Given the description of an element on the screen output the (x, y) to click on. 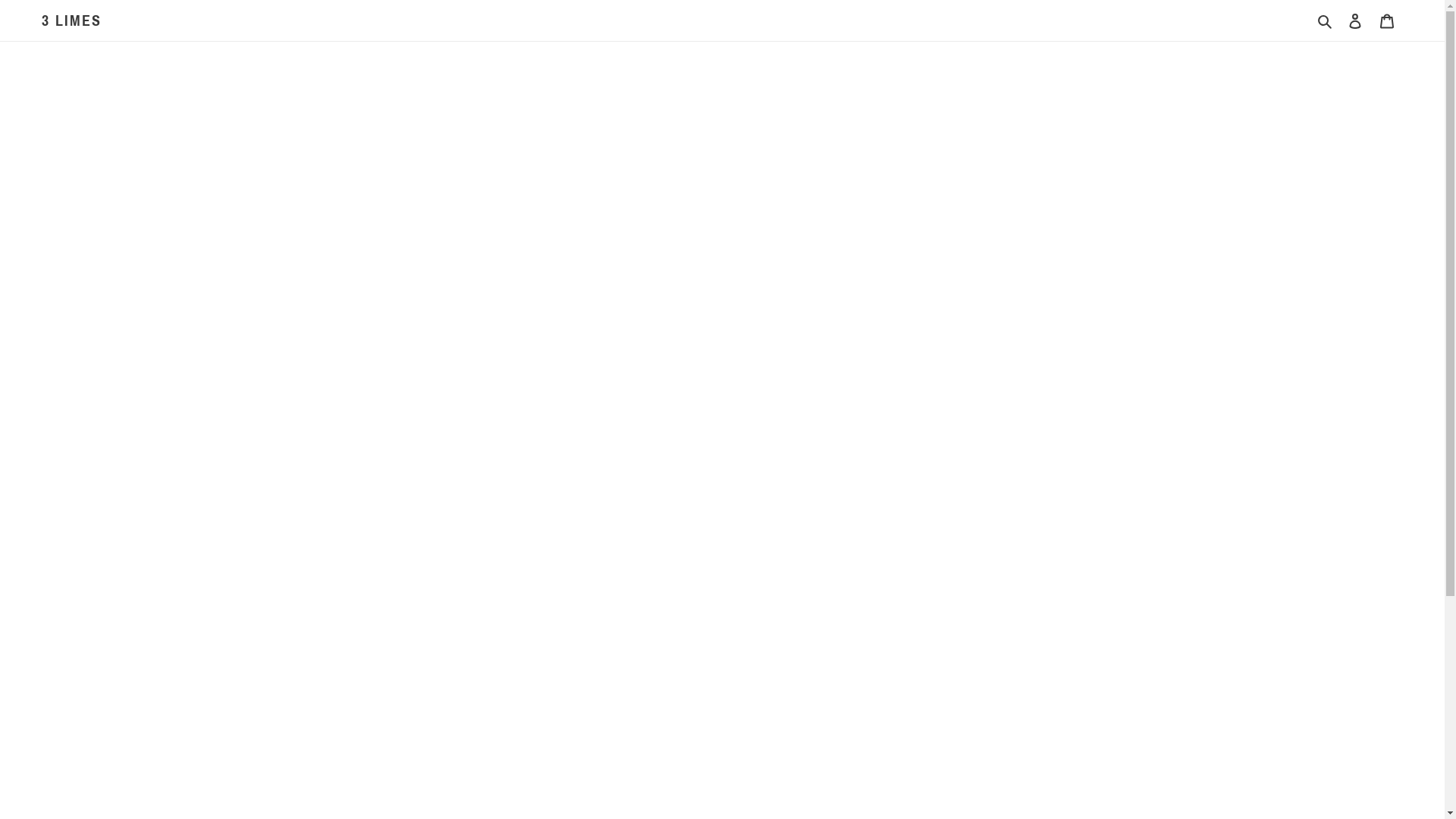
Cart Element type: text (1386, 20)
Search Element type: text (1325, 20)
3 LIMES Element type: text (71, 20)
Log in Element type: text (1355, 20)
